Given the description of an element on the screen output the (x, y) to click on. 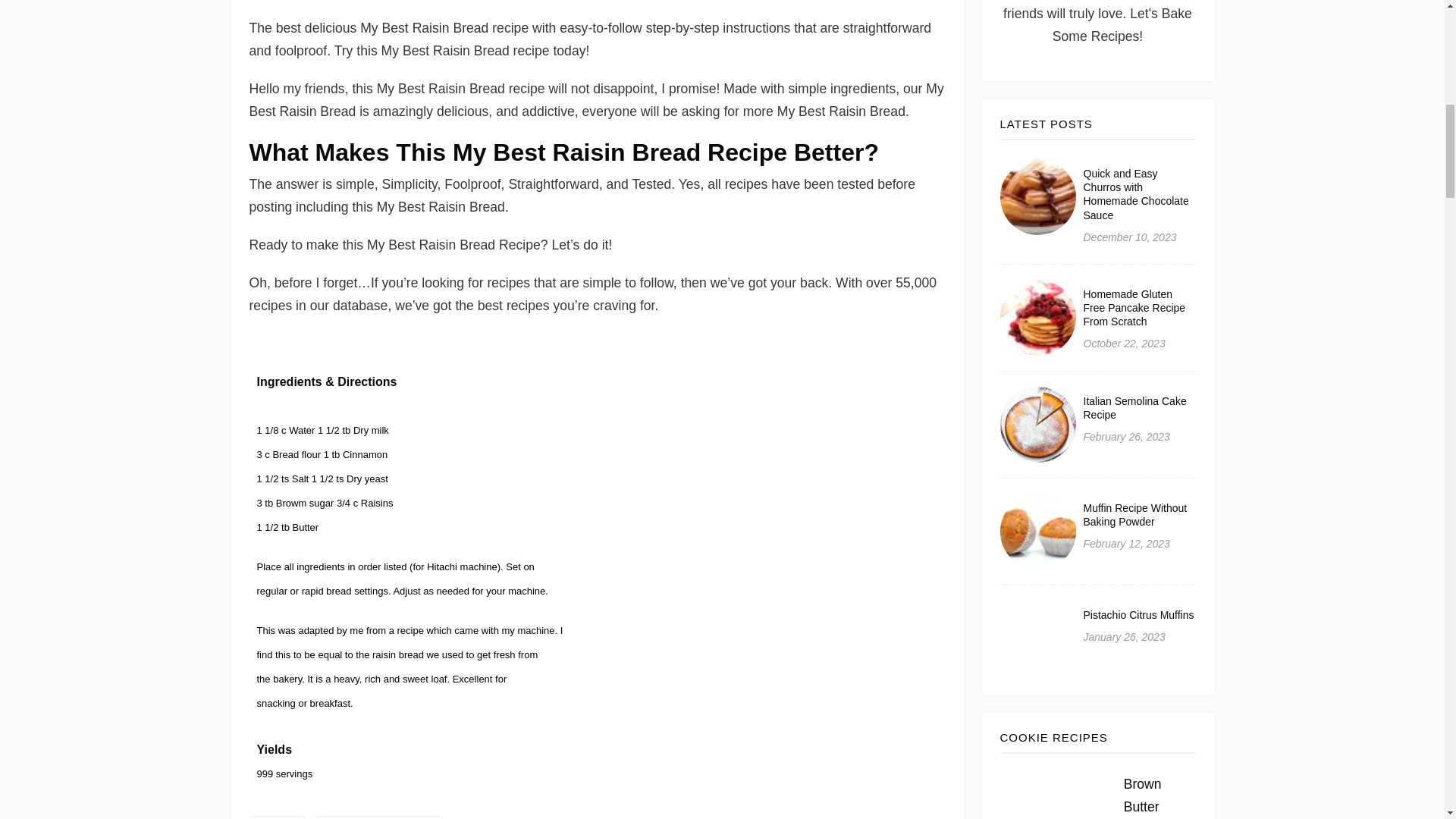
breads (276, 817)
My Best Raisin Bread (378, 817)
